Given the description of an element on the screen output the (x, y) to click on. 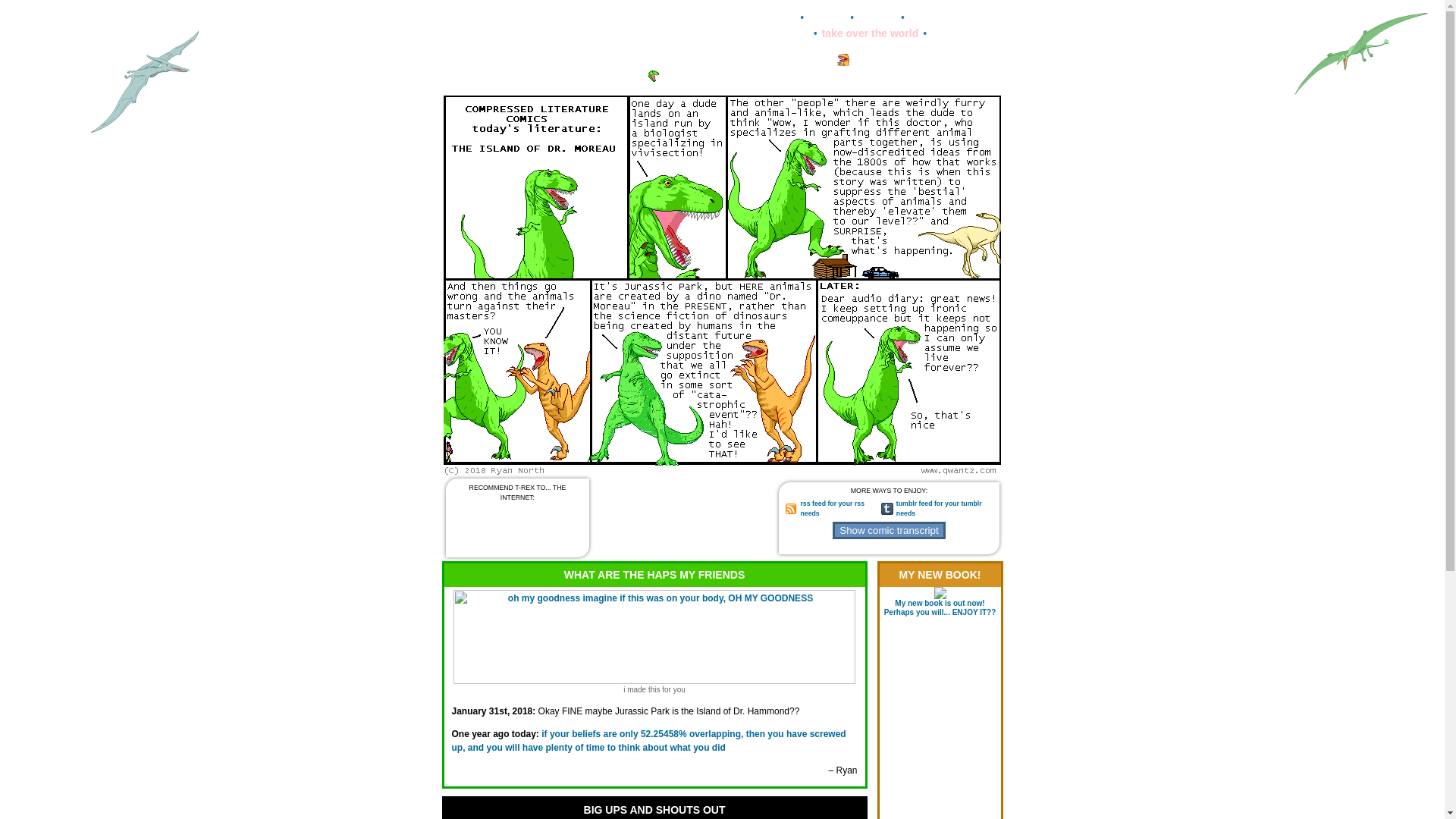
search (948, 33)
Next comic (1050, 470)
Show comic transcript (888, 529)
rss feed for your rss needs (831, 507)
That T-Rex, always sayin' somethin' (653, 75)
Tumblr what is your DEAL (886, 508)
Snakes got it all, babies!! (732, 78)
contact (877, 17)
about (780, 17)
